Given the description of an element on the screen output the (x, y) to click on. 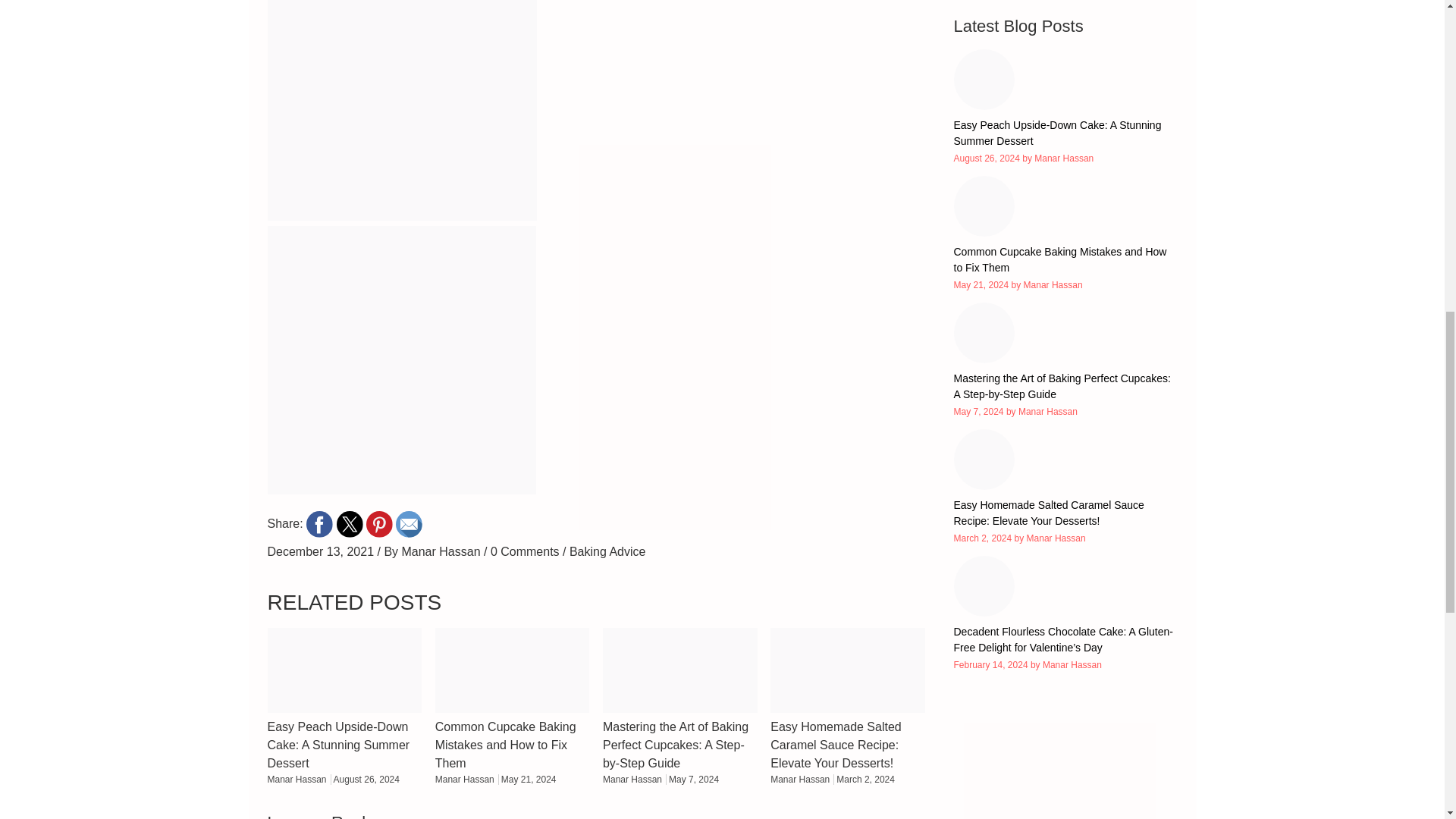
Easy Peach Upside-Down Cake: A Stunning Summer Dessert (1065, 105)
Common Cupcake Baking Mistakes and How to Fix Them (1065, 232)
